Given the description of an element on the screen output the (x, y) to click on. 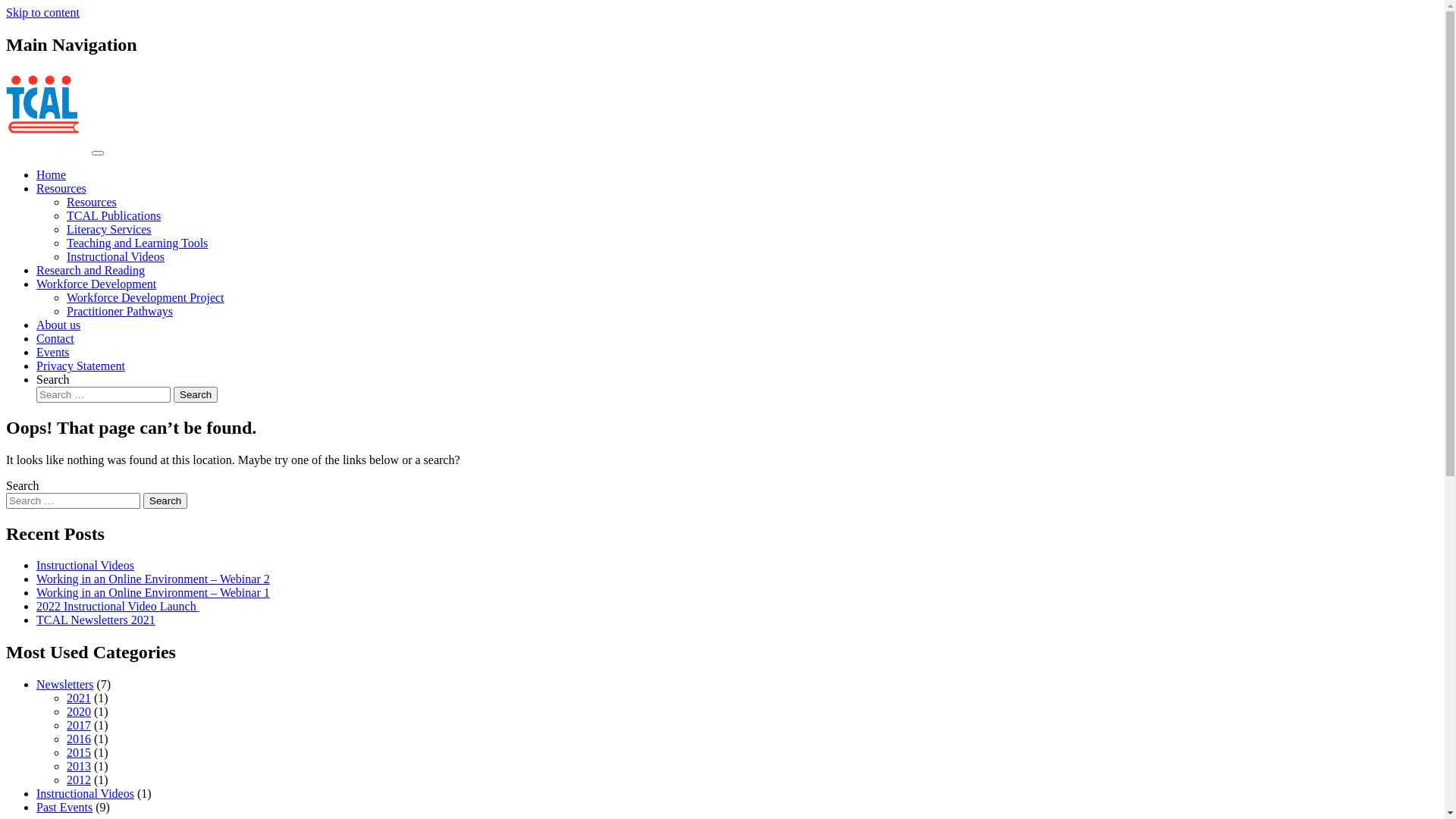
Events Element type: text (52, 351)
Workforce Development Element type: text (96, 283)
Skip to content Element type: text (42, 12)
Instructional Videos Element type: text (115, 256)
Teaching and Learning Tools Element type: text (136, 242)
2012 Element type: text (78, 779)
Newsletters Element type: text (65, 683)
Contact Element type: text (55, 338)
2020 Element type: text (78, 711)
Home Element type: text (50, 174)
Instructional Videos Element type: text (85, 564)
Privacy Statement Element type: text (80, 365)
Search Element type: text (165, 500)
Past Events Element type: text (64, 806)
2015 Element type: text (78, 752)
Search Element type: text (195, 394)
TCAL Publications Element type: text (113, 215)
2022 Instructional Video Launch  Element type: text (117, 605)
Instructional Videos Element type: text (85, 793)
2016 Element type: text (78, 738)
Resources Element type: text (61, 188)
Practitioner Pathways Element type: text (119, 310)
Literacy Services Element type: text (108, 228)
Research and Reading Element type: text (90, 269)
TCAL Newsletters 2021 Element type: text (95, 619)
2017 Element type: text (78, 724)
About us Element type: text (58, 324)
Resources Element type: text (91, 201)
2021 Element type: text (78, 697)
2013 Element type: text (78, 765)
Workforce Development Project Element type: text (145, 297)
